Given the description of an element on the screen output the (x, y) to click on. 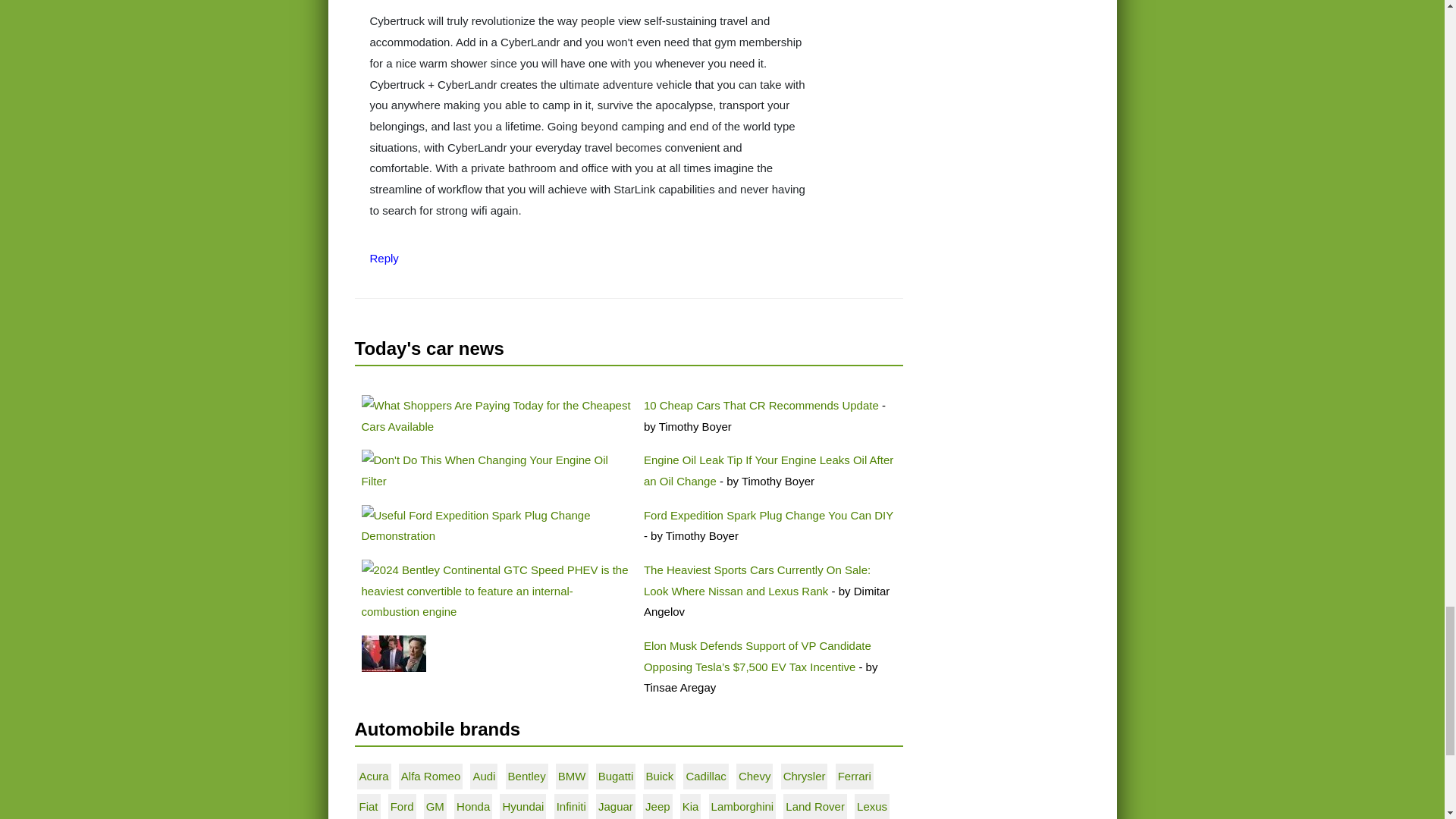
Sometimes Your Hands are The Best Tool (495, 470)
2024 Bentley Continental GTC Speed PHEV (495, 590)
Learn DIY Repairs on Your Ford Truck (495, 526)
Updated Cheap Car Listing from Consumer Reports (495, 415)
